Given the description of an element on the screen output the (x, y) to click on. 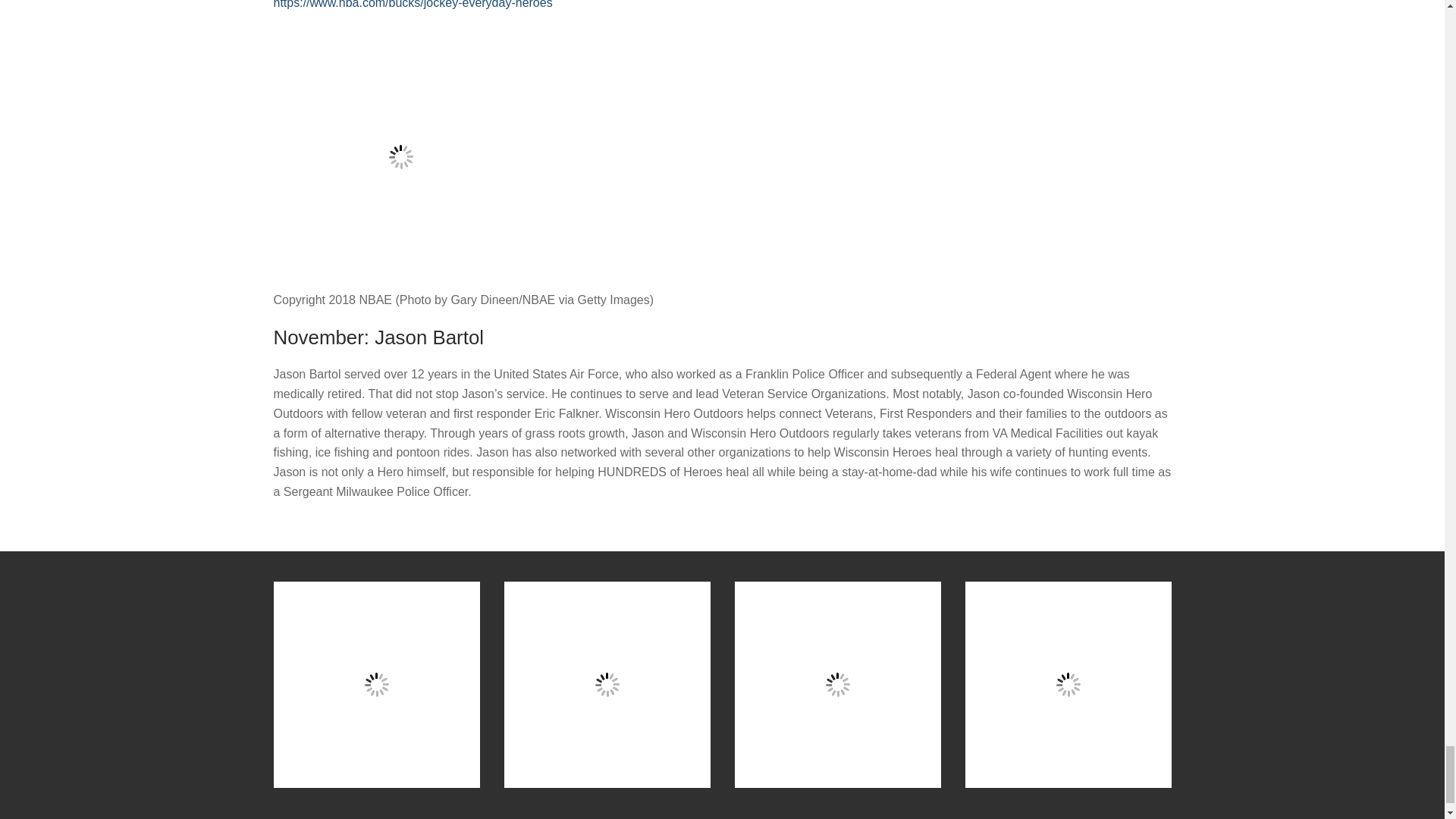
Sponsors (1066, 684)
News (836, 684)
